Given the description of an element on the screen output the (x, y) to click on. 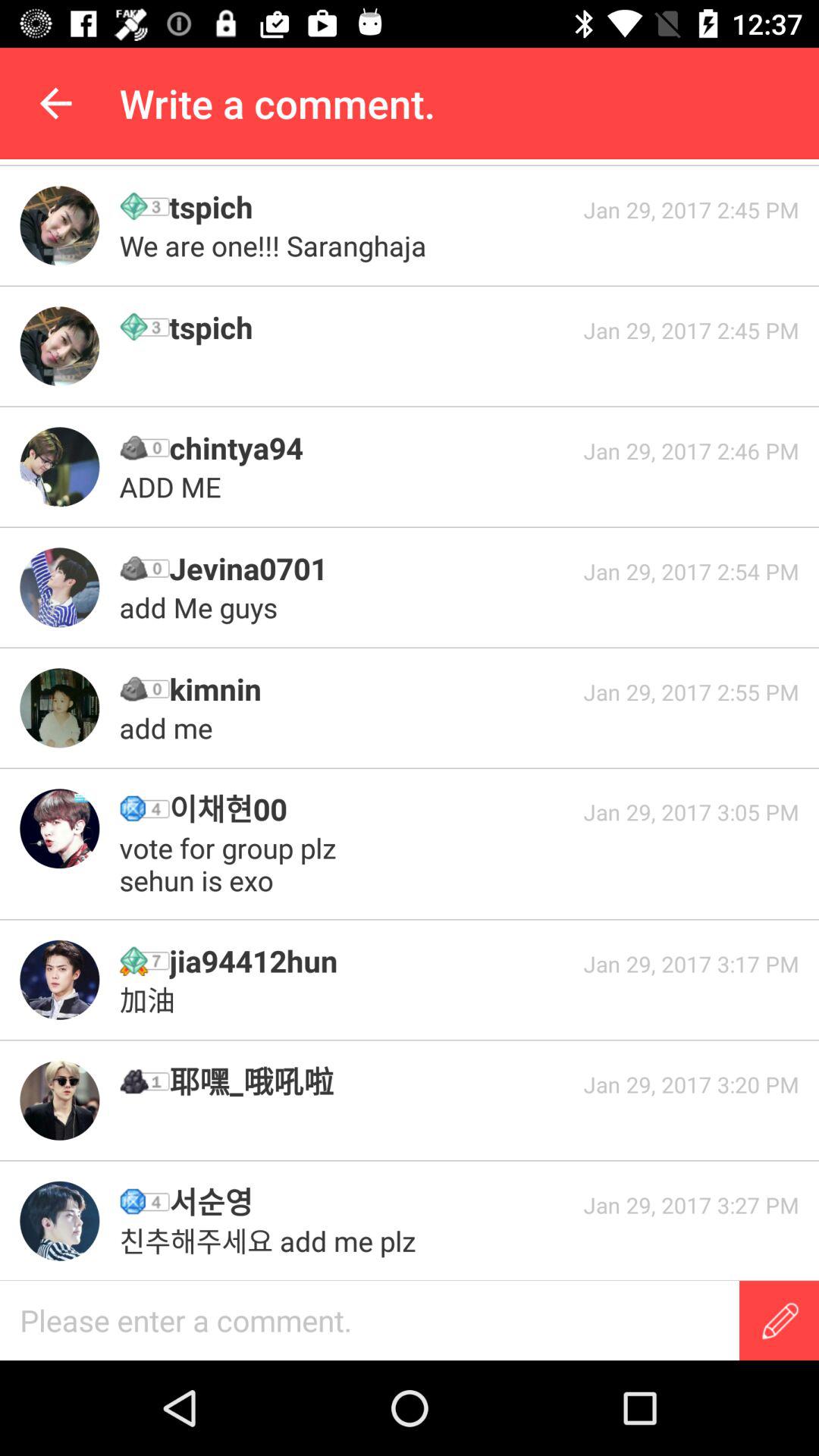
check the profile (59, 225)
